Given the description of an element on the screen output the (x, y) to click on. 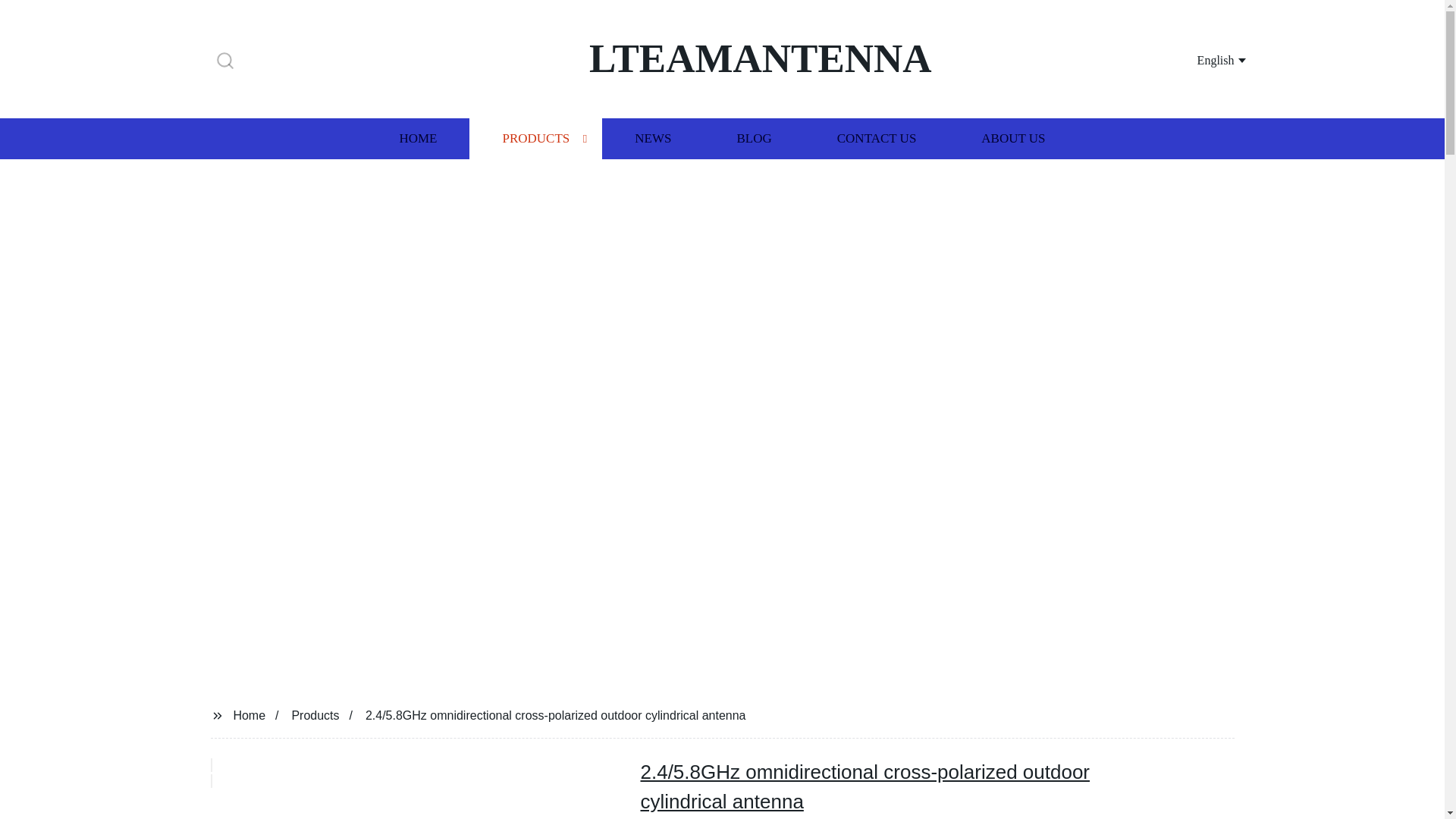
HOME (417, 137)
BLOG (753, 137)
PRODUCTS (535, 137)
NEWS (652, 137)
Products (315, 714)
English (1203, 59)
ABOUT US (1013, 137)
English (1203, 59)
CONTACT US (877, 137)
Home (248, 714)
